Given the description of an element on the screen output the (x, y) to click on. 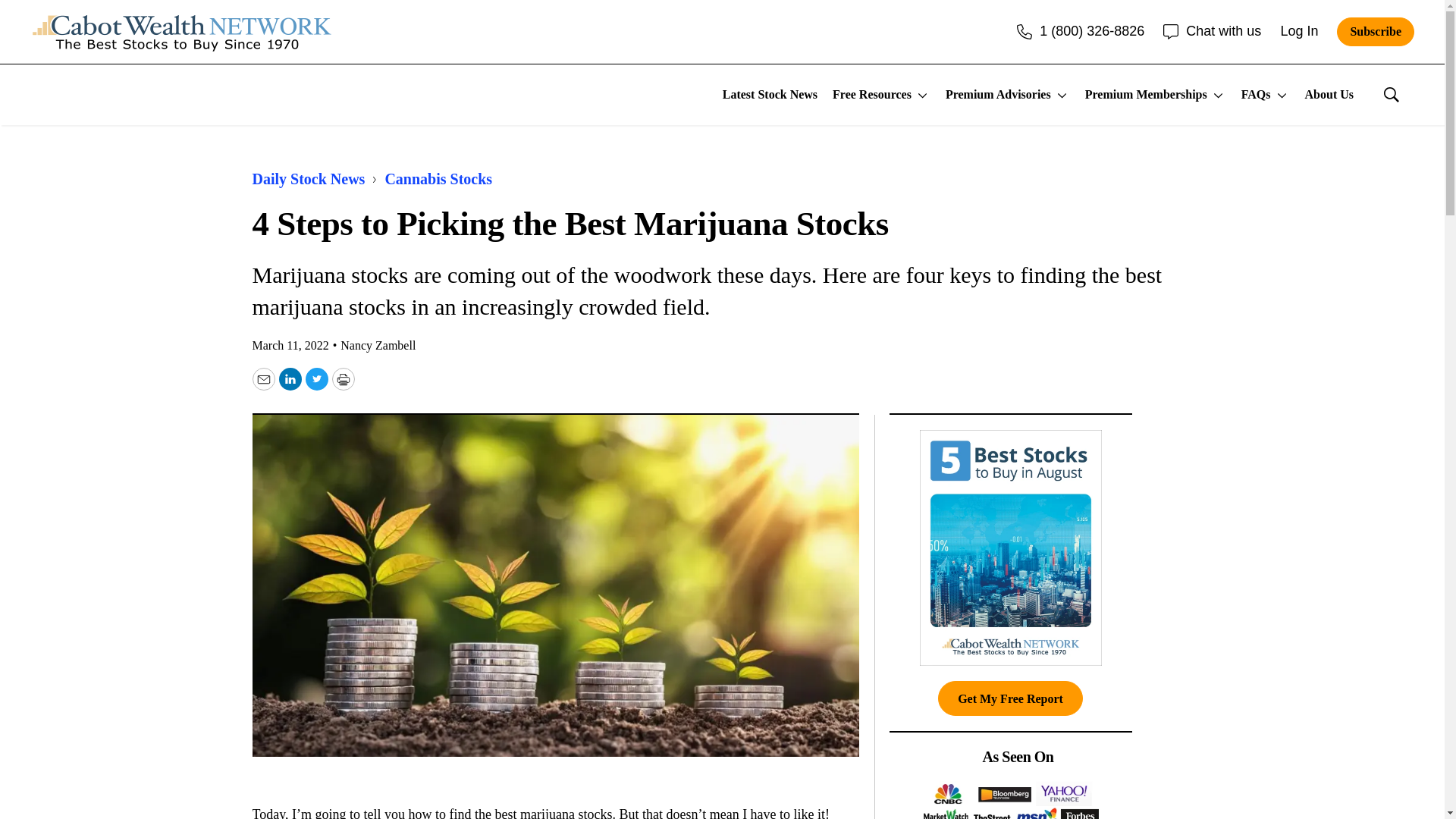
Log In (1298, 30)
Subscribe (1374, 31)
Chat with us (1211, 30)
